Given the description of an element on the screen output the (x, y) to click on. 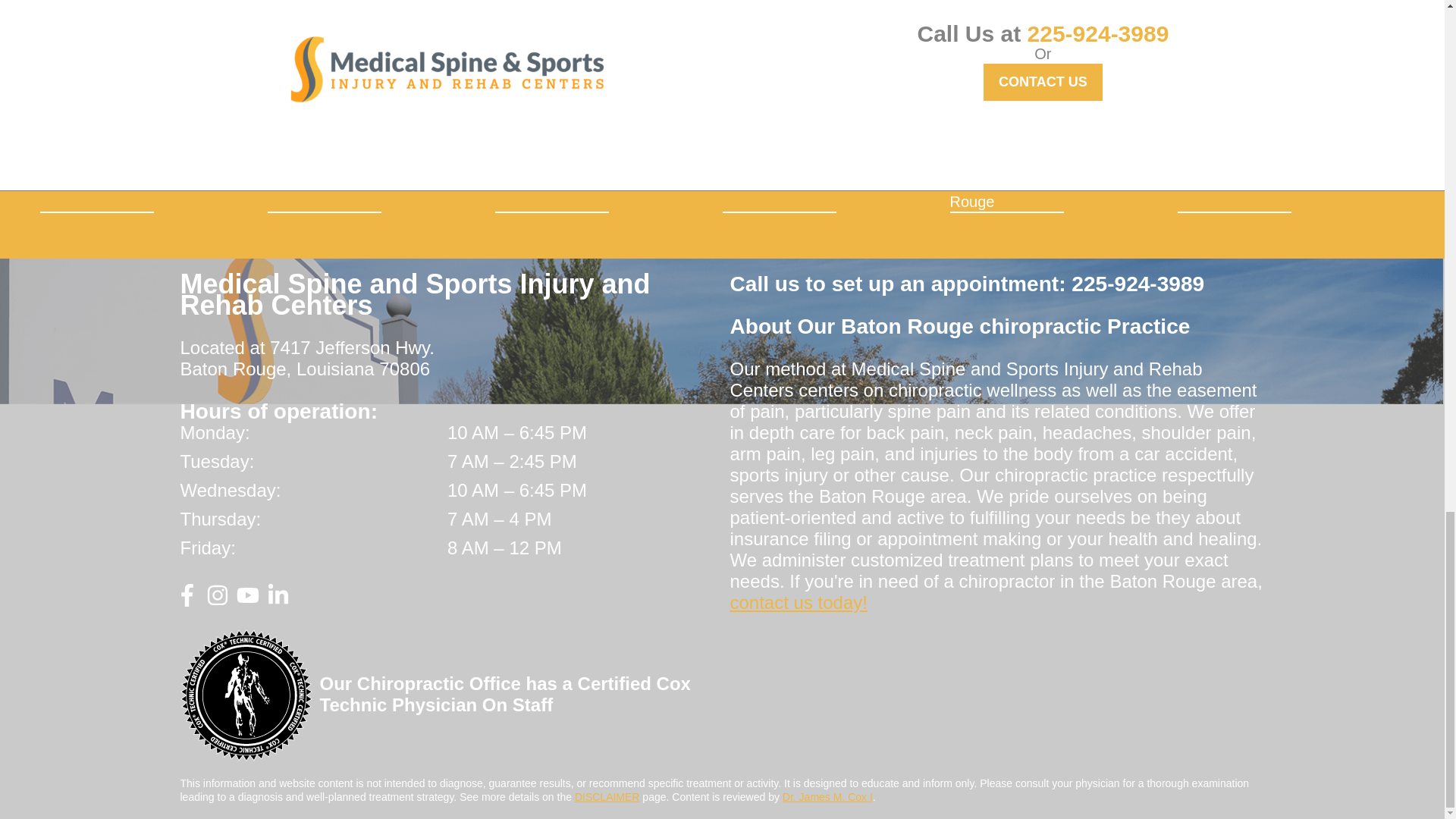
Subscribe to us on YouTube (247, 600)
Follow us on Instagram (217, 600)
Like us on Facebook (187, 600)
Connect with us on LinkedIn (277, 600)
